Given the description of an element on the screen output the (x, y) to click on. 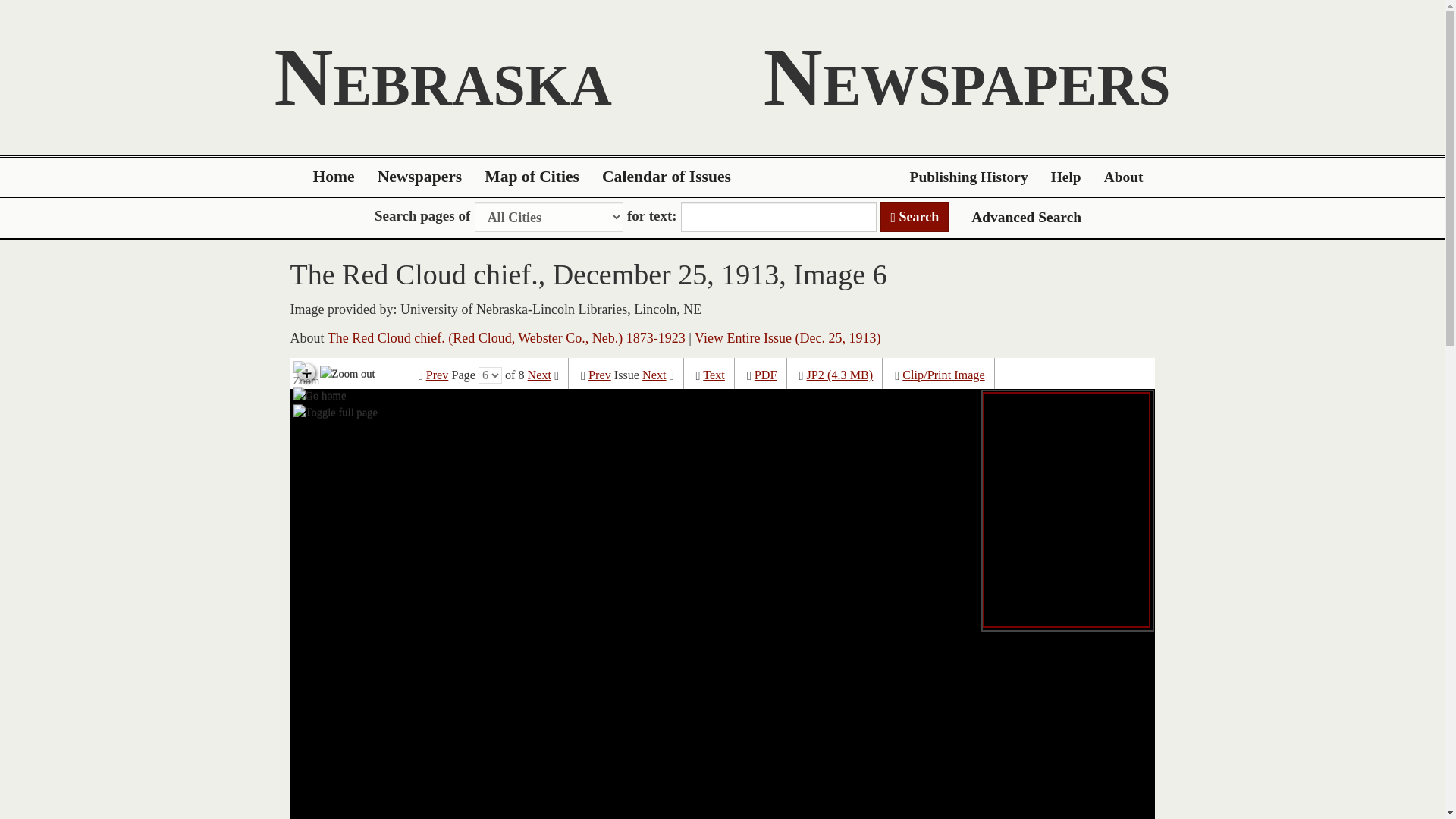
Toggle full page (335, 412)
Prev (599, 375)
Zoom out (347, 373)
Search (914, 217)
Text (714, 375)
Next (539, 375)
Go home (320, 394)
Calendar of Issues (666, 176)
Zoom in (307, 373)
About (1123, 176)
